Given the description of an element on the screen output the (x, y) to click on. 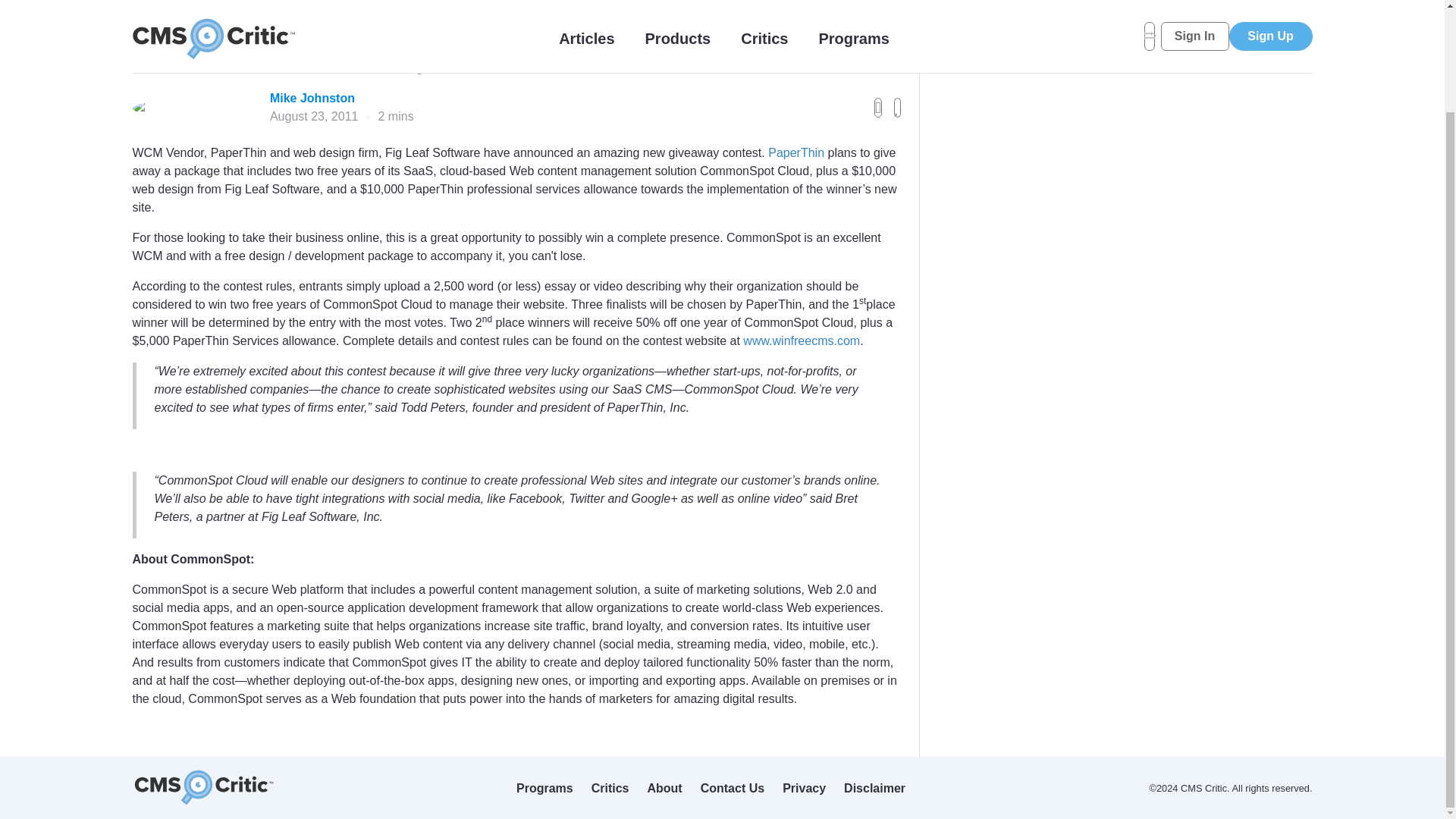
Privacy (804, 788)
Contact Us (732, 788)
Programs (544, 788)
Disclaimer (874, 788)
About (663, 788)
Critics (609, 788)
www.winfreecms.com (801, 340)
PaperThin (796, 152)
Mike Johnston (341, 98)
